Given the description of an element on the screen output the (x, y) to click on. 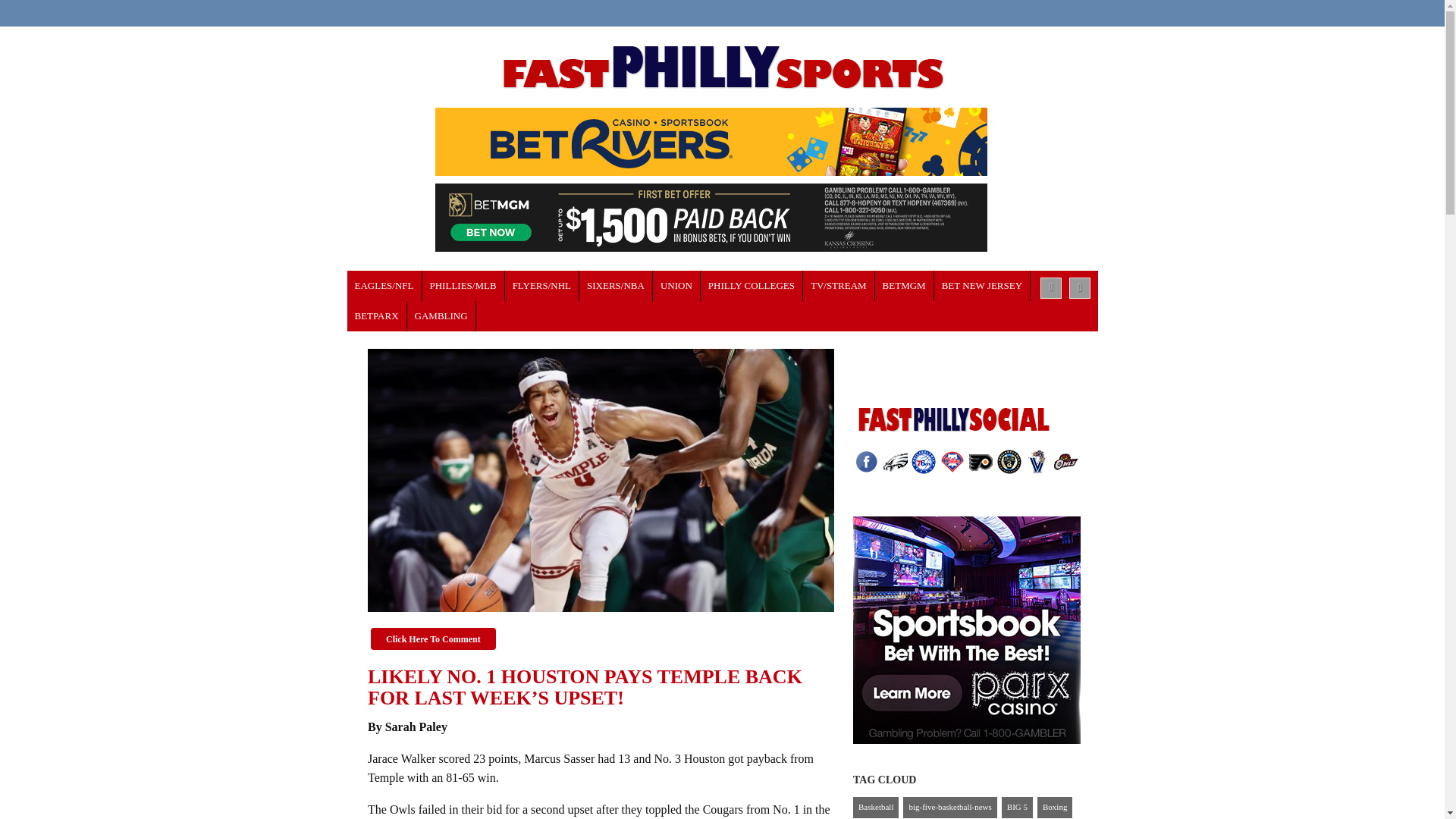
BETPARX (377, 316)
LA SALLE (751, 286)
GAMBLING (441, 316)
Click Here To Comment (433, 639)
BETMGM (904, 286)
Random Article (1079, 287)
UNION (676, 286)
BET NEW JERSEY (982, 286)
PHILLY COLLEGES (751, 286)
